Given the description of an element on the screen output the (x, y) to click on. 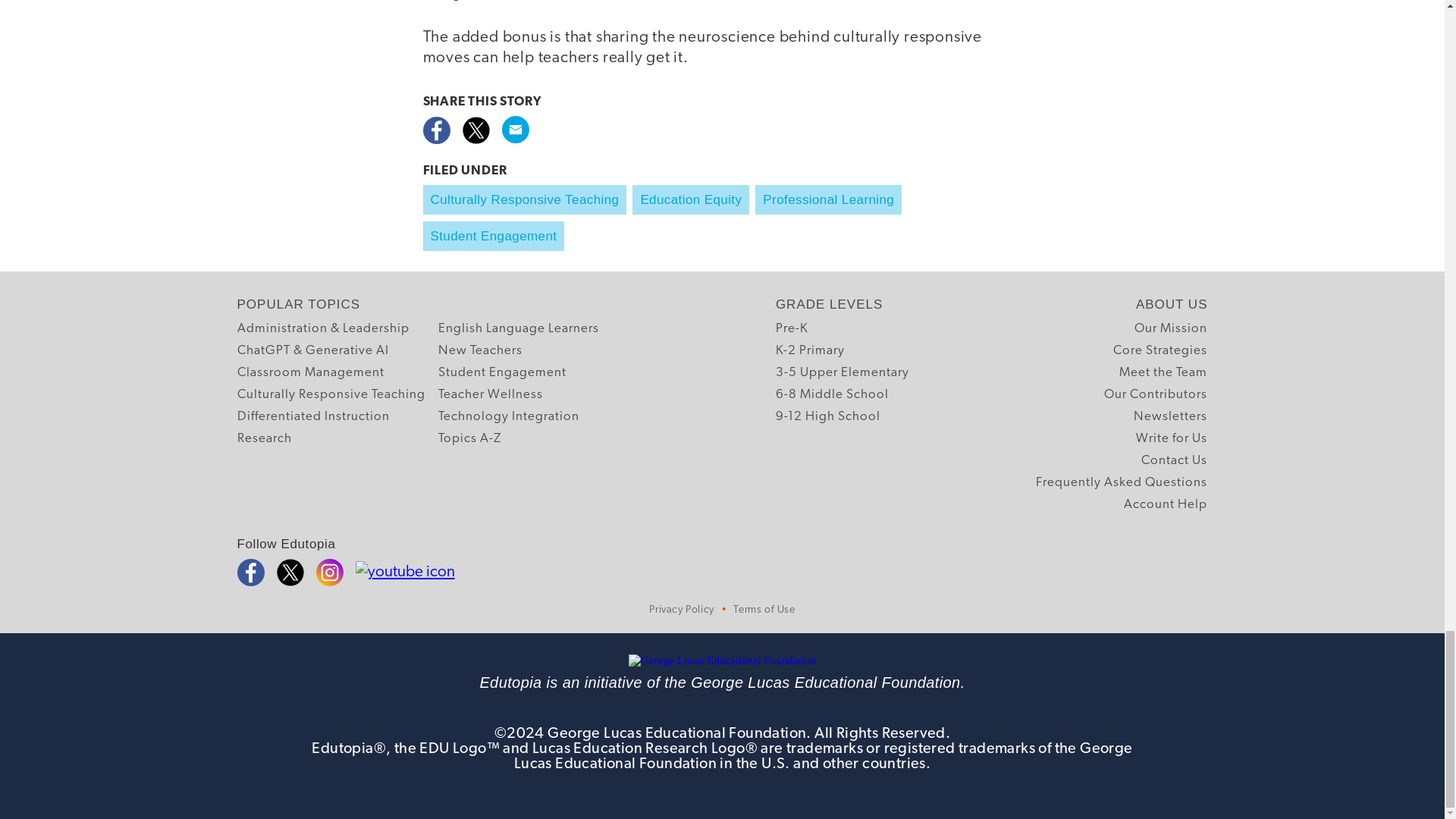
Differentiated Instruction (311, 416)
Teacher Wellness (490, 394)
New Teachers (480, 350)
Technology Integration (508, 416)
Student Engagement (493, 235)
Culturally Responsive Teaching (525, 199)
Pre-K (792, 328)
Education Equity (690, 199)
Student Engagement (502, 372)
Professional Learning (828, 199)
